Given the description of an element on the screen output the (x, y) to click on. 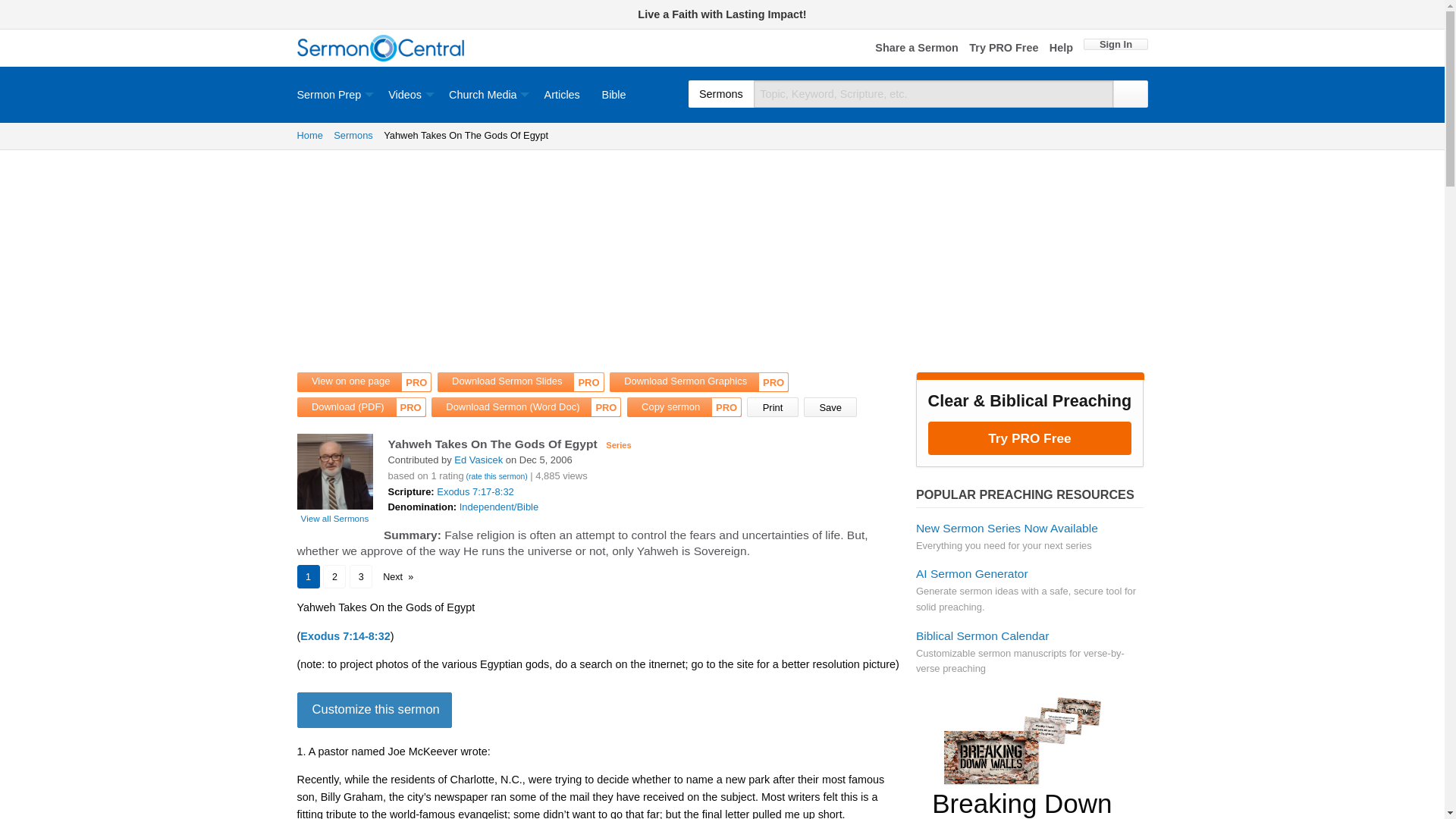
Share a Sermon (916, 48)
SermonCentral.com (380, 48)
Articles (561, 94)
Bible (614, 94)
Sign In (1115, 43)
Church Media (486, 94)
Videos (407, 94)
Sermon Prep (337, 94)
Try PRO Free (1003, 48)
